Given the description of an element on the screen output the (x, y) to click on. 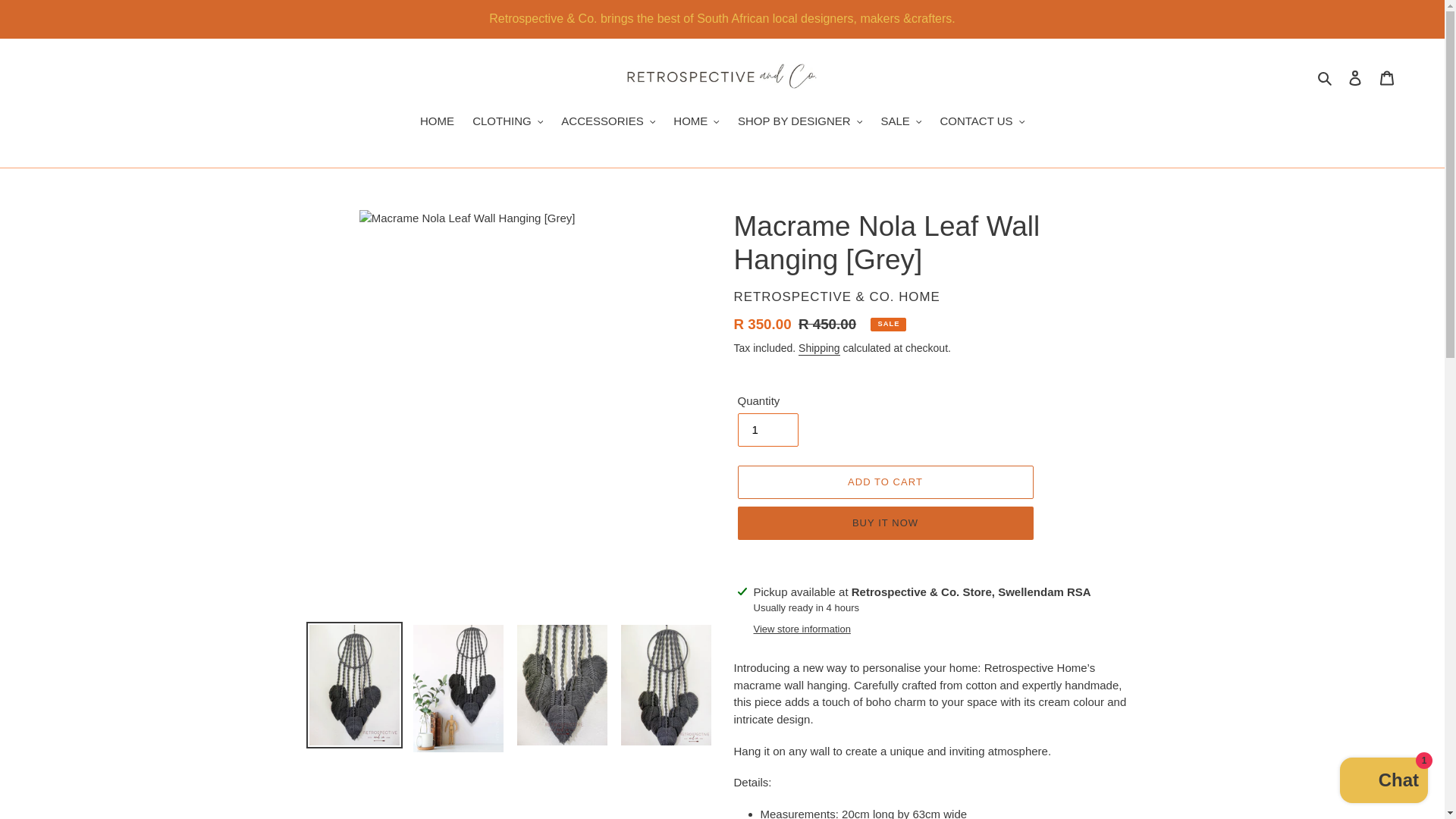
Cart (1387, 77)
Log in (1355, 77)
Shopify online store chat (1383, 781)
Search (1326, 76)
1 (766, 429)
